Given the description of an element on the screen output the (x, y) to click on. 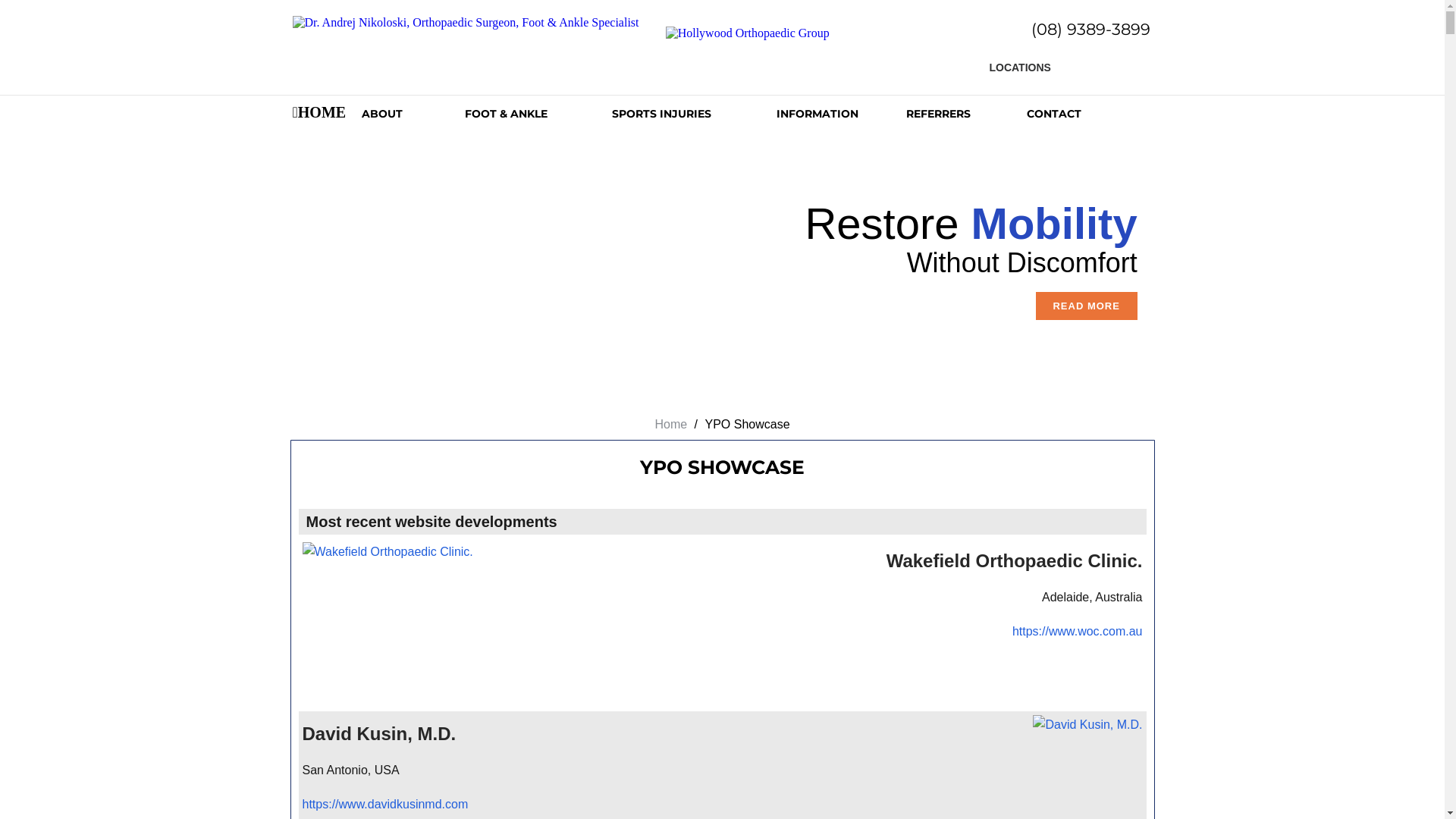
CONTACT Element type: text (1065, 113)
David Kusin, M.D. Element type: text (378, 733)
FOOT & ANKLE Element type: text (537, 113)
SPORTS INJURIES Element type: text (693, 113)
ABOUT Element type: text (413, 113)
Wakefield Orthopaedic Clinic. Element type: text (1014, 560)
https://www.woc.com.au Element type: text (1077, 630)
REFERRERS Element type: text (966, 113)
https://www.davidkusinmd.com Element type: text (384, 803)
LOCATIONS Element type: text (1026, 61)
Home Element type: text (670, 423)
INFORMATION Element type: text (841, 113)
READ MORE Element type: text (1086, 305)
HOME Element type: text (326, 113)
